Given the description of an element on the screen output the (x, y) to click on. 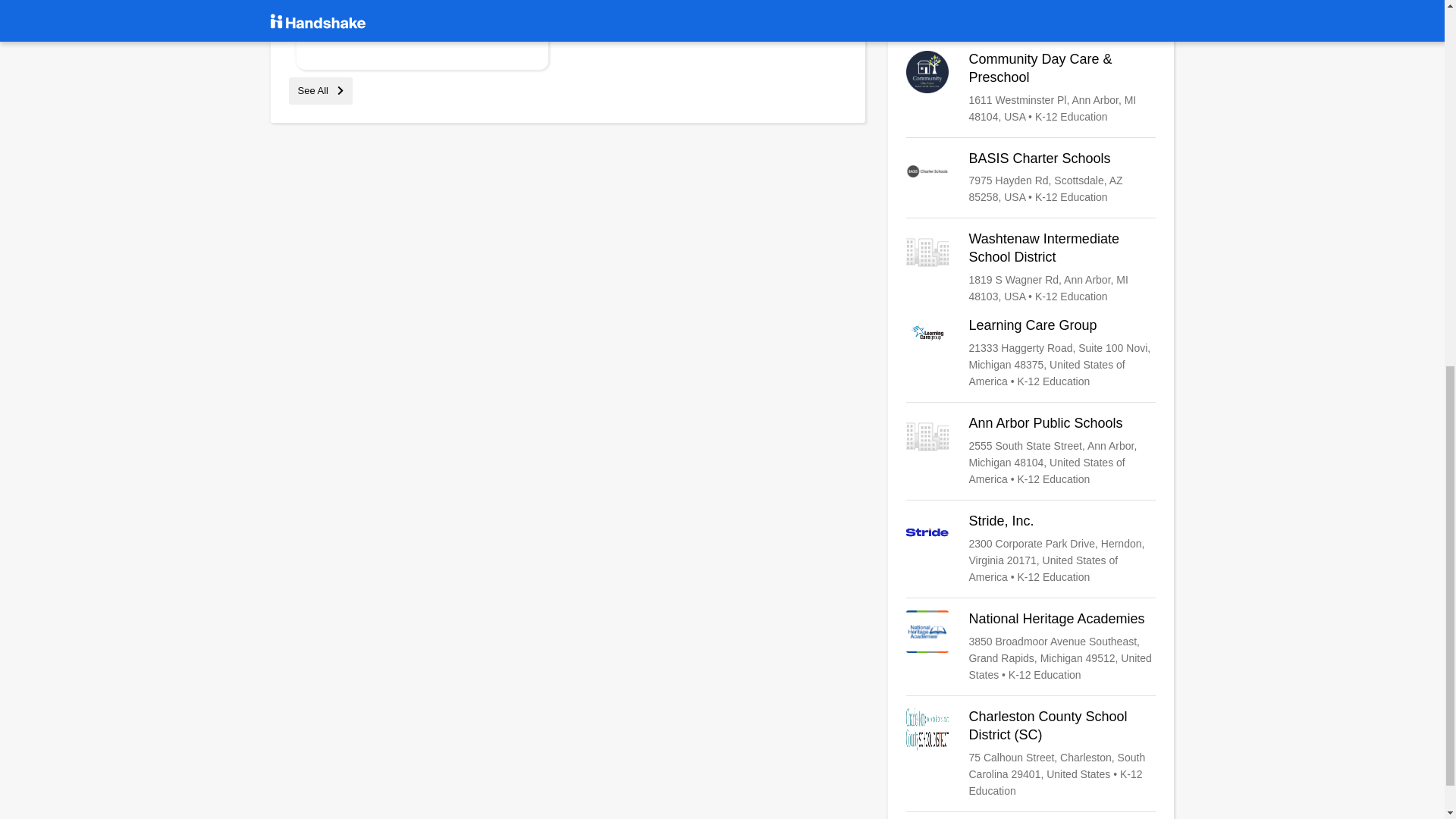
Washtenaw Intermediate School District (1030, 267)
Ann Arbor Public Schools (1030, 450)
See All (320, 90)
Learning Care Group (1030, 352)
BASIS Charter Schools (1030, 177)
Pasadena ISD (1030, 12)
National Heritage Academies (1030, 646)
Stride, Inc. (1030, 548)
